Given the description of an element on the screen output the (x, y) to click on. 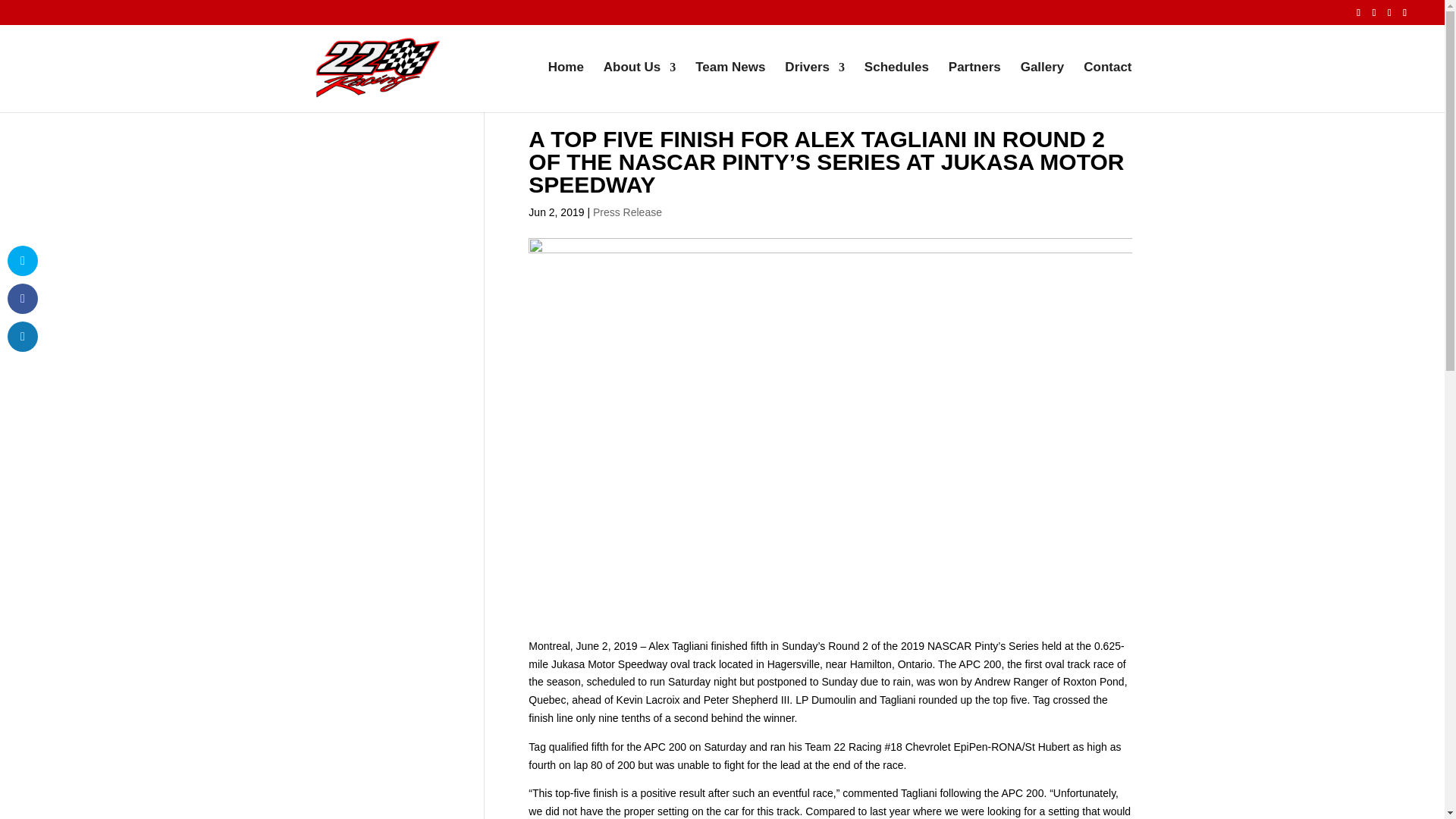
Partners (975, 87)
About Us (640, 87)
Contact (1107, 87)
Press Release (627, 212)
Schedules (896, 87)
Team News (730, 87)
Drivers (814, 87)
